Given the description of an element on the screen output the (x, y) to click on. 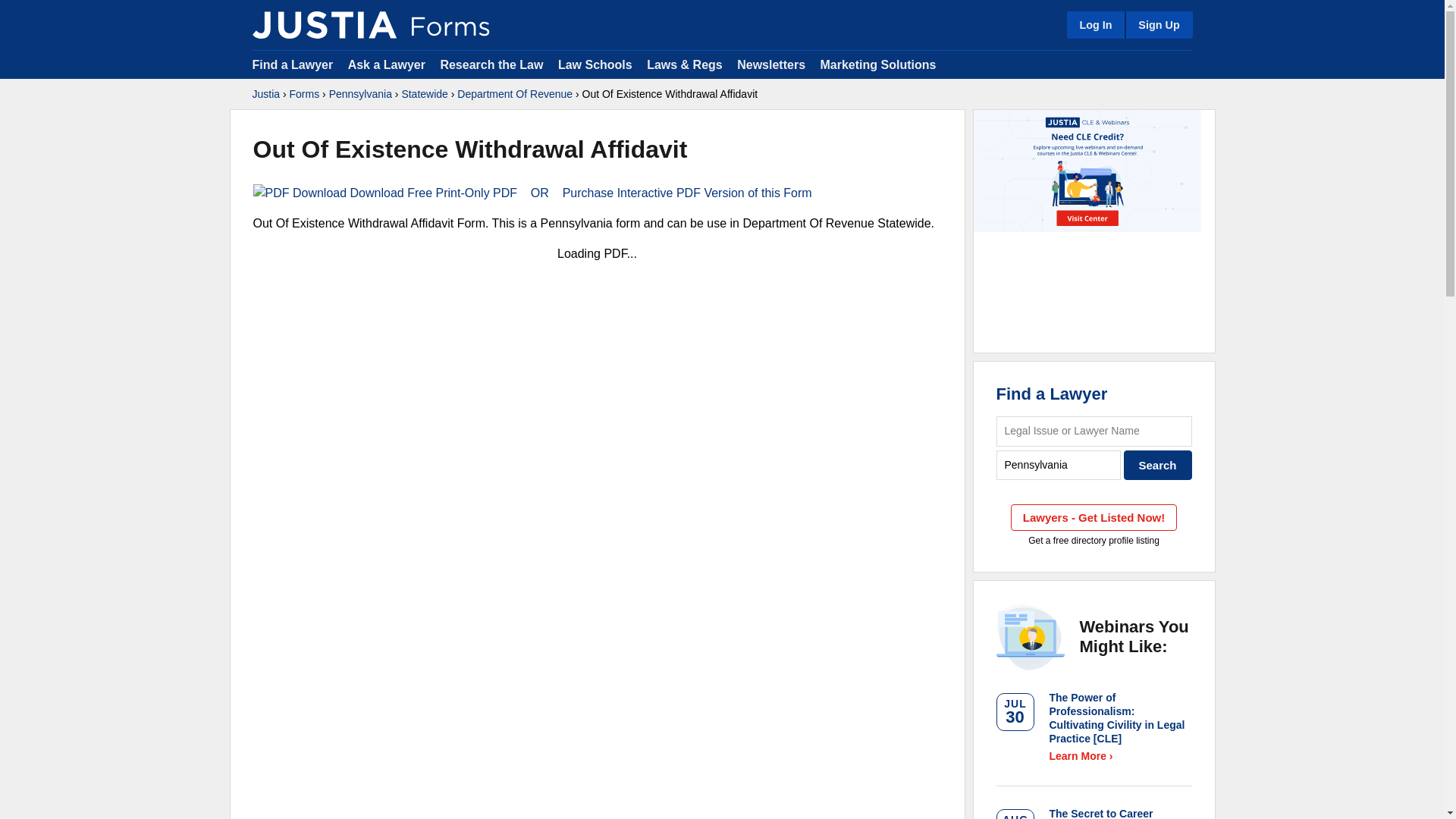
Search (1158, 464)
Search (1158, 464)
Sign Up (1158, 24)
Research the Law (491, 64)
Search (1158, 464)
Forms (304, 93)
Law Schools (594, 64)
Ask a Lawyer (388, 64)
Newsletters (770, 64)
Pennsylvania (360, 93)
Find a Lawyer (1051, 393)
Statewide (423, 93)
Lawyers - Get Listed Now! (1093, 517)
Marketing Solutions (877, 64)
